Given the description of an element on the screen output the (x, y) to click on. 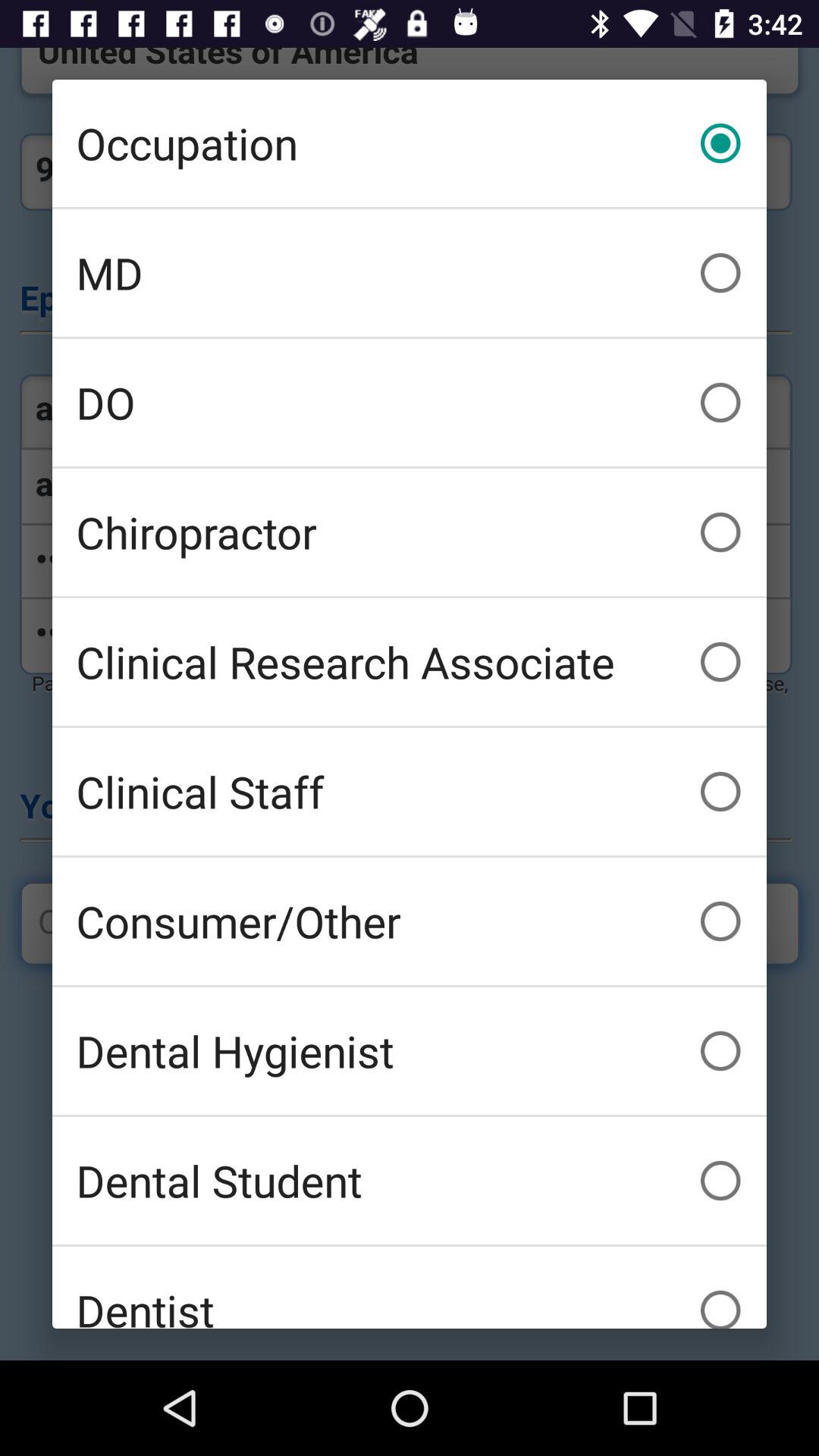
launch the clinical research associate icon (409, 661)
